Given the description of an element on the screen output the (x, y) to click on. 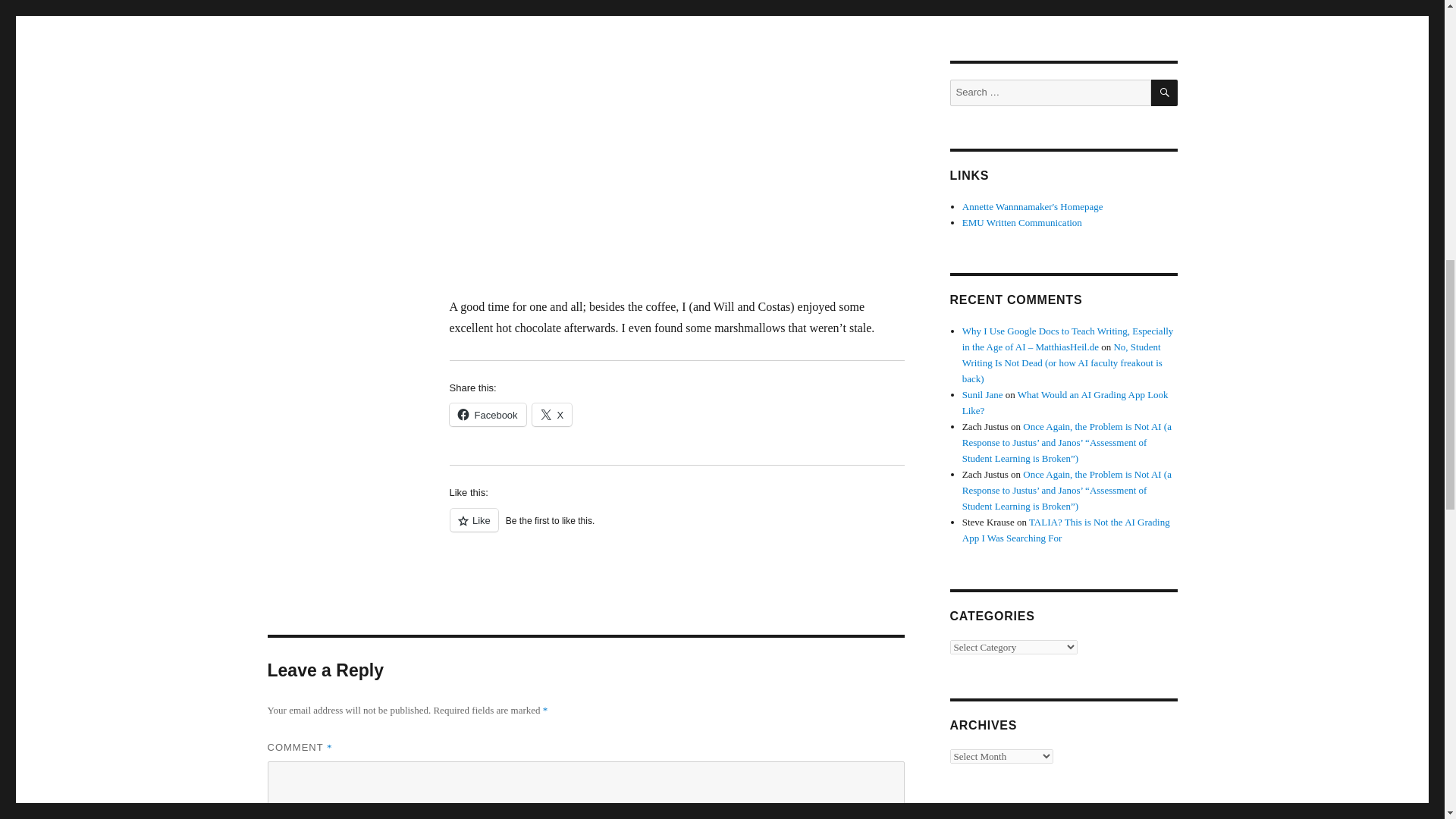
X (552, 414)
Annette Wannnamaker's Homepage (1032, 206)
Click to share on X (552, 414)
Login (961, 9)
EMU Written Communication (1021, 222)
Like or Reblog (676, 528)
SEARCH (1164, 92)
Click to share on Facebook (486, 414)
Facebook (486, 414)
